Given the description of an element on the screen output the (x, y) to click on. 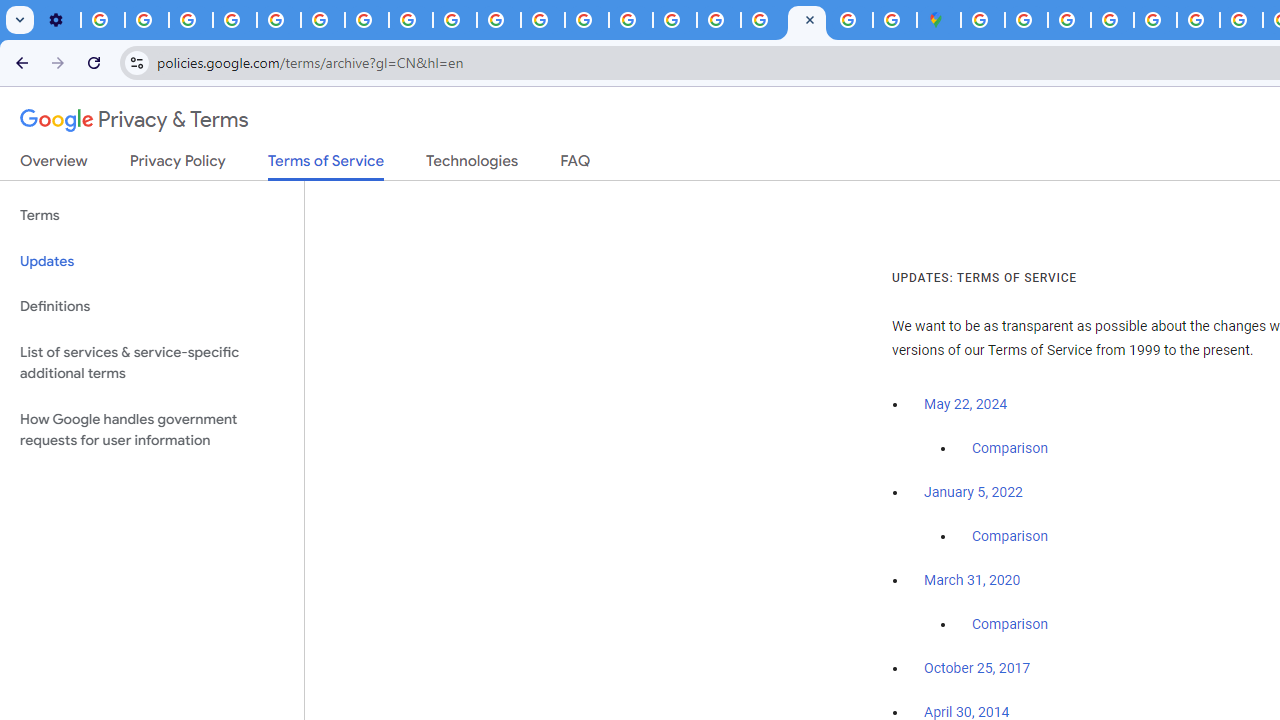
Sign in - Google Accounts (1026, 20)
YouTube (322, 20)
Learn how to find your photos - Google Photos Help (146, 20)
Privacy Help Center - Policies Help (1241, 20)
Privacy Checkup (454, 20)
